Given the description of an element on the screen output the (x, y) to click on. 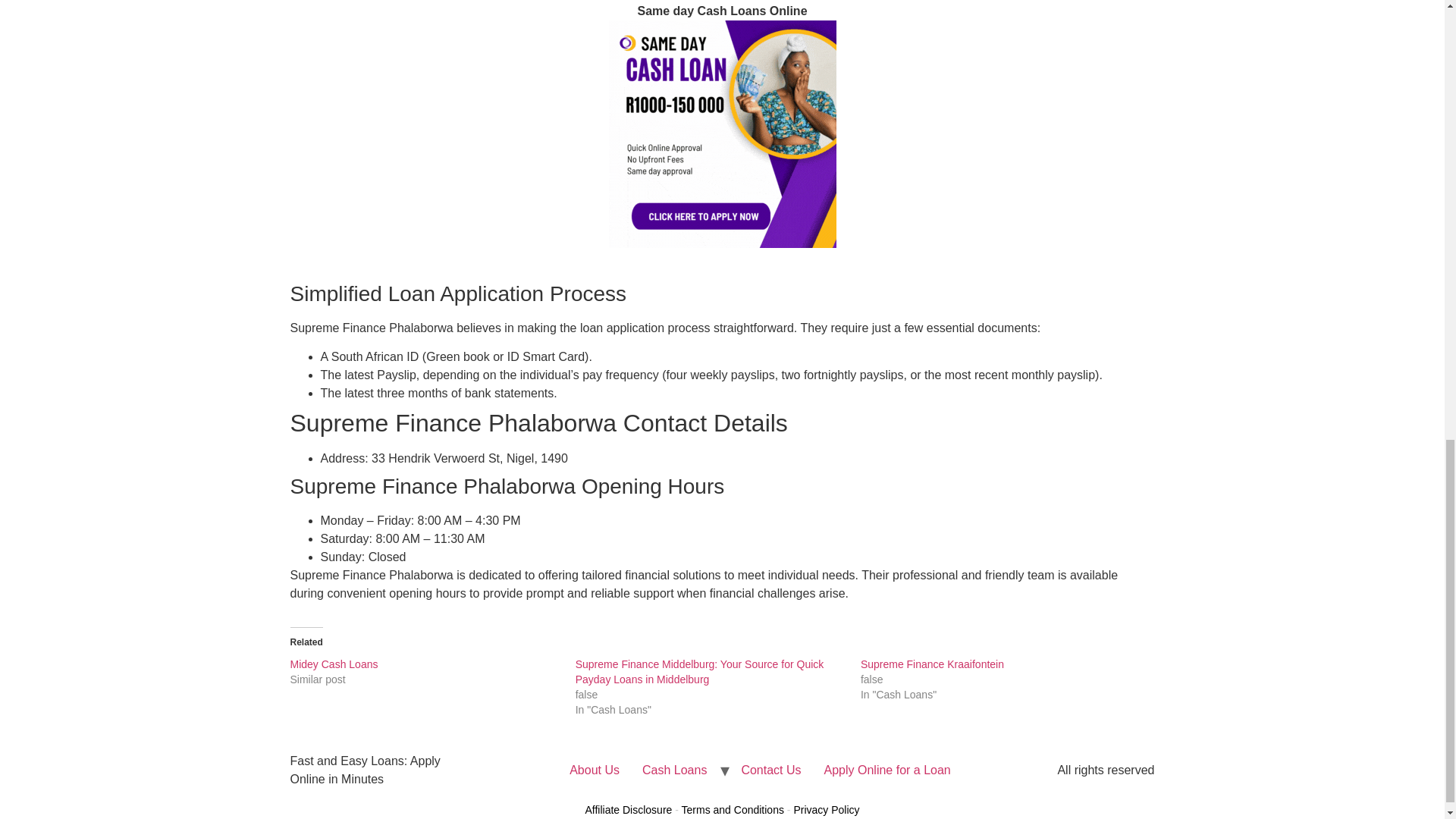
Affiliate Disclosure (628, 809)
About Us (593, 769)
Apply Online for a Loan (887, 769)
Midey Cash Loans (333, 664)
Contact Us (770, 769)
Terms and Conditions (732, 809)
Midey Cash Loans (333, 664)
Supreme Finance Kraaifontein (932, 664)
